Given the description of an element on the screen output the (x, y) to click on. 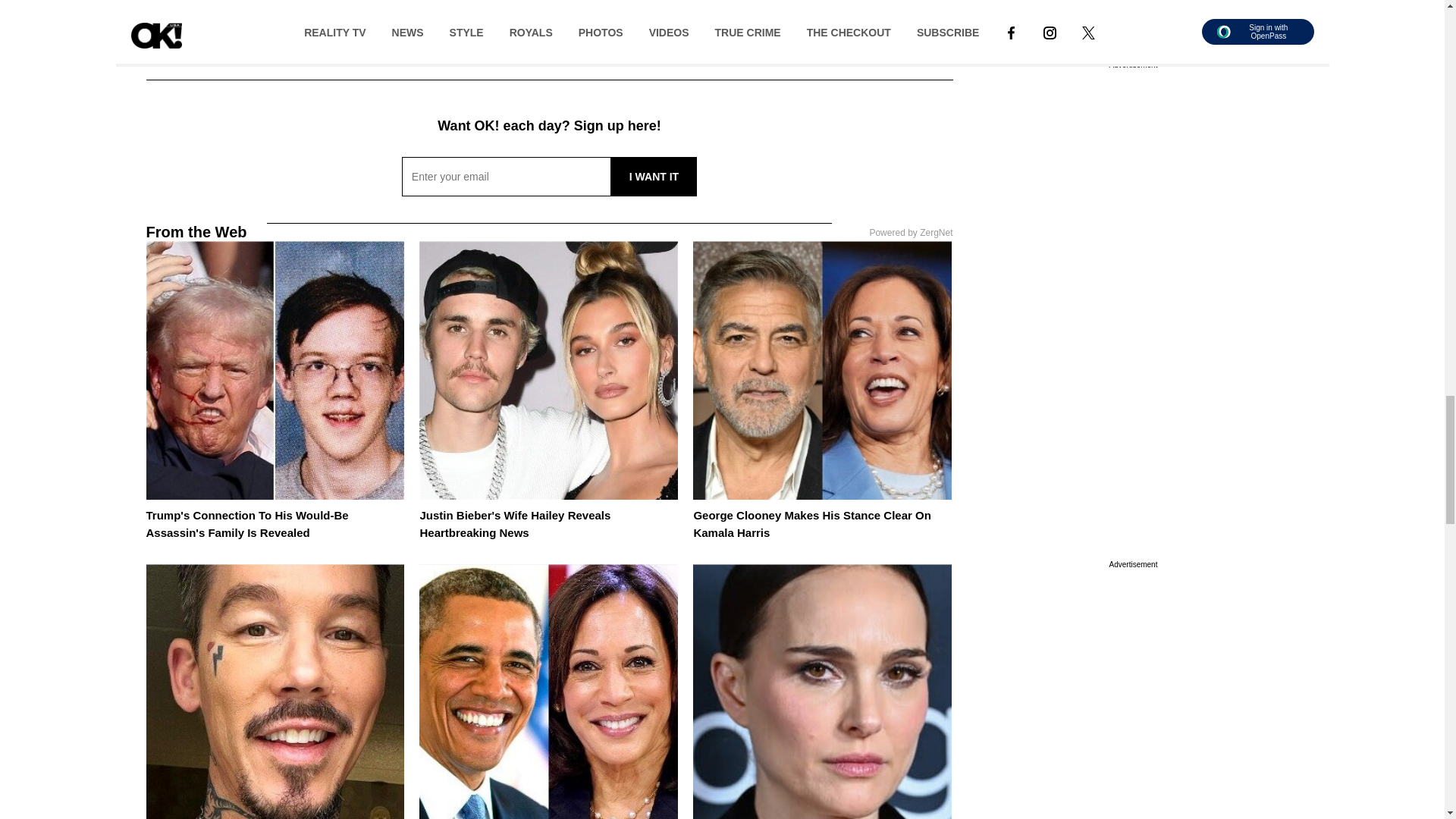
I WANT IT (654, 176)
